Given the description of an element on the screen output the (x, y) to click on. 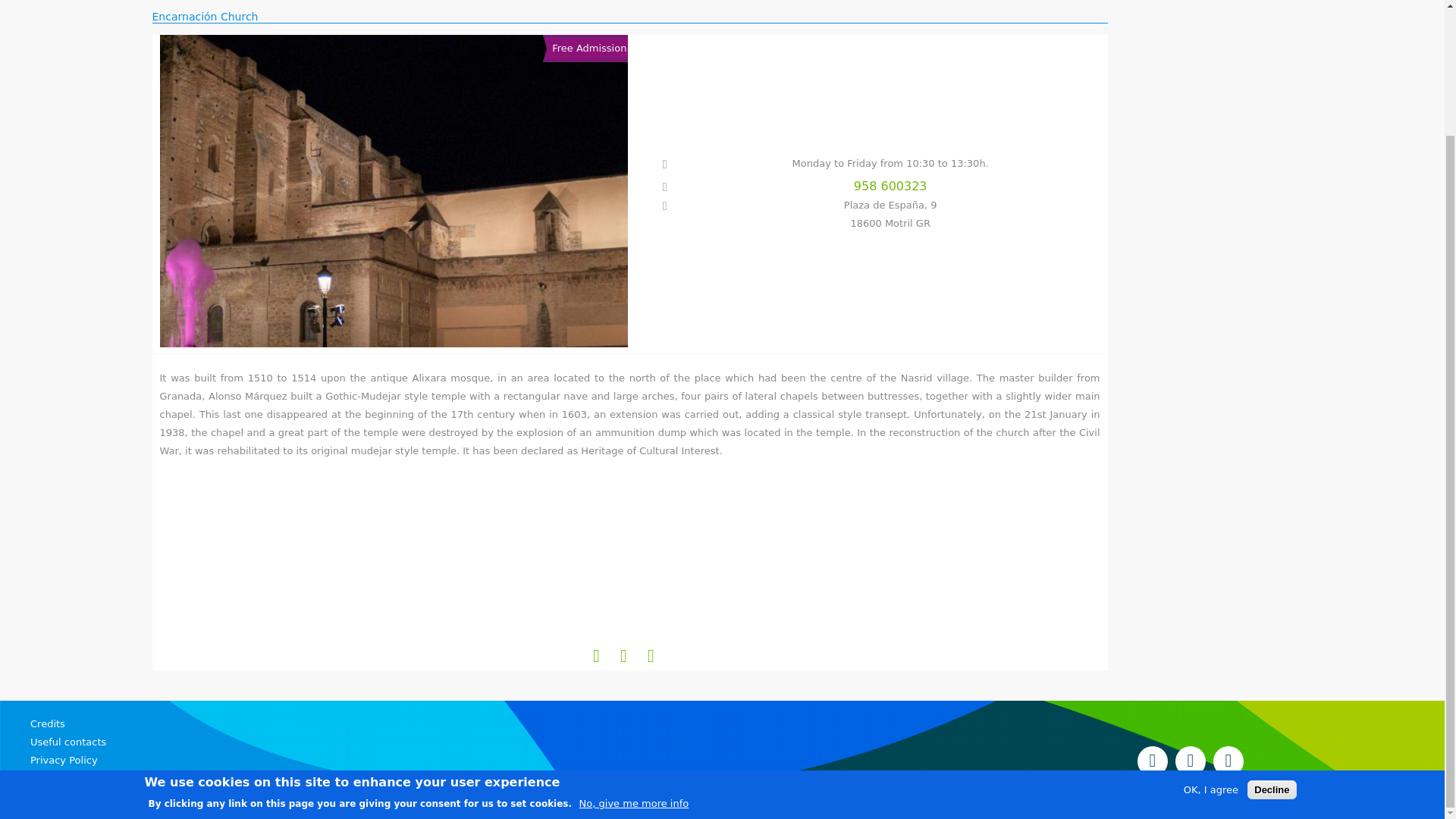
Useful contacts (733, 742)
Credits (733, 723)
Privacy Policy (733, 760)
Legal disclaimer (733, 778)
958 600323 (865, 186)
